Given the description of an element on the screen output the (x, y) to click on. 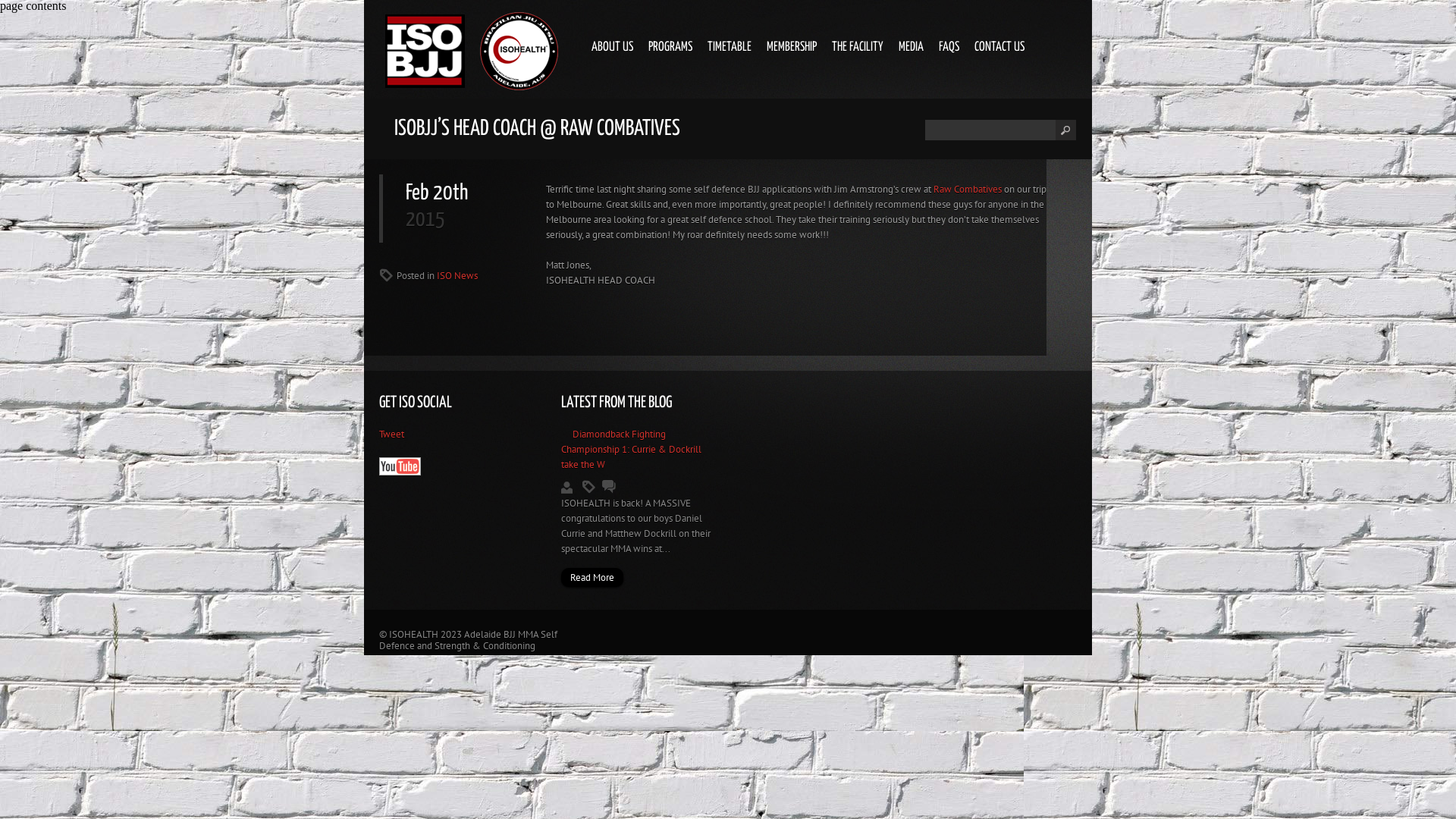
ISO News Element type: text (456, 275)
Search Element type: hover (990, 129)
ABOUT US Element type: text (611, 47)
MEMBERSHIP Element type: text (791, 47)
Tweet Element type: text (391, 433)
Read More Element type: text (592, 576)
FAQS Element type: text (948, 47)
CONTACT US Element type: text (999, 47)
PROGRAMS Element type: text (669, 47)
TIMETABLE Element type: text (729, 47)
THE FACILITY Element type: text (857, 47)
Raw Combatives Element type: text (967, 188)
MEDIA Element type: text (911, 47)
